Given the description of an element on the screen output the (x, y) to click on. 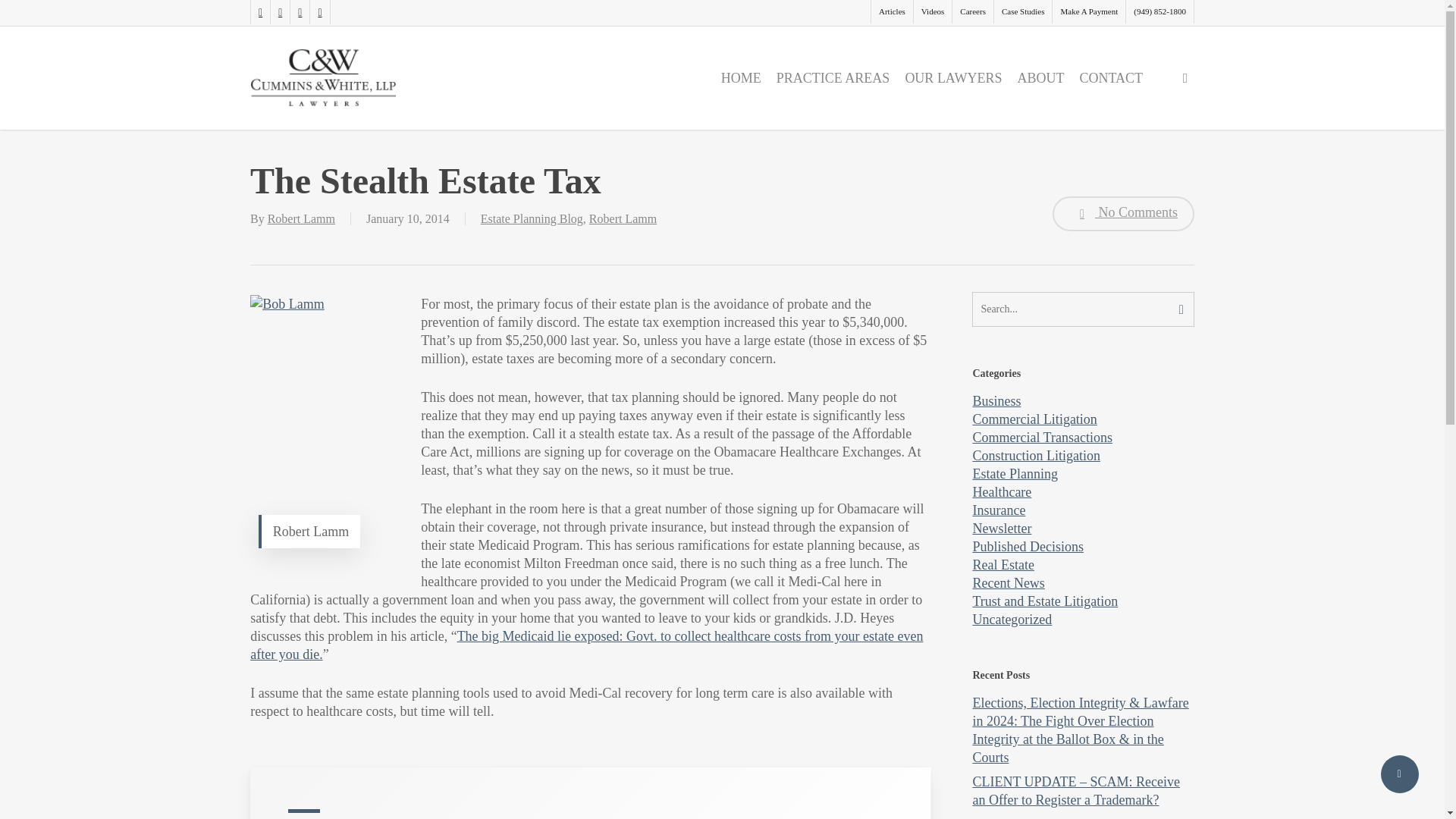
Estate Planning (1014, 473)
HOME (740, 77)
linkedin (298, 12)
twitter (259, 12)
Posts by Robert Lamm (300, 218)
Healthcare (1001, 491)
Insurance (998, 509)
OUR LAWYERS (952, 77)
Make A Payment (1088, 11)
Commercial Transactions (1042, 437)
facebook (279, 12)
youtube (318, 12)
Case Studies (1022, 11)
Business (996, 400)
ABOUT (1040, 77)
